Given the description of an element on the screen output the (x, y) to click on. 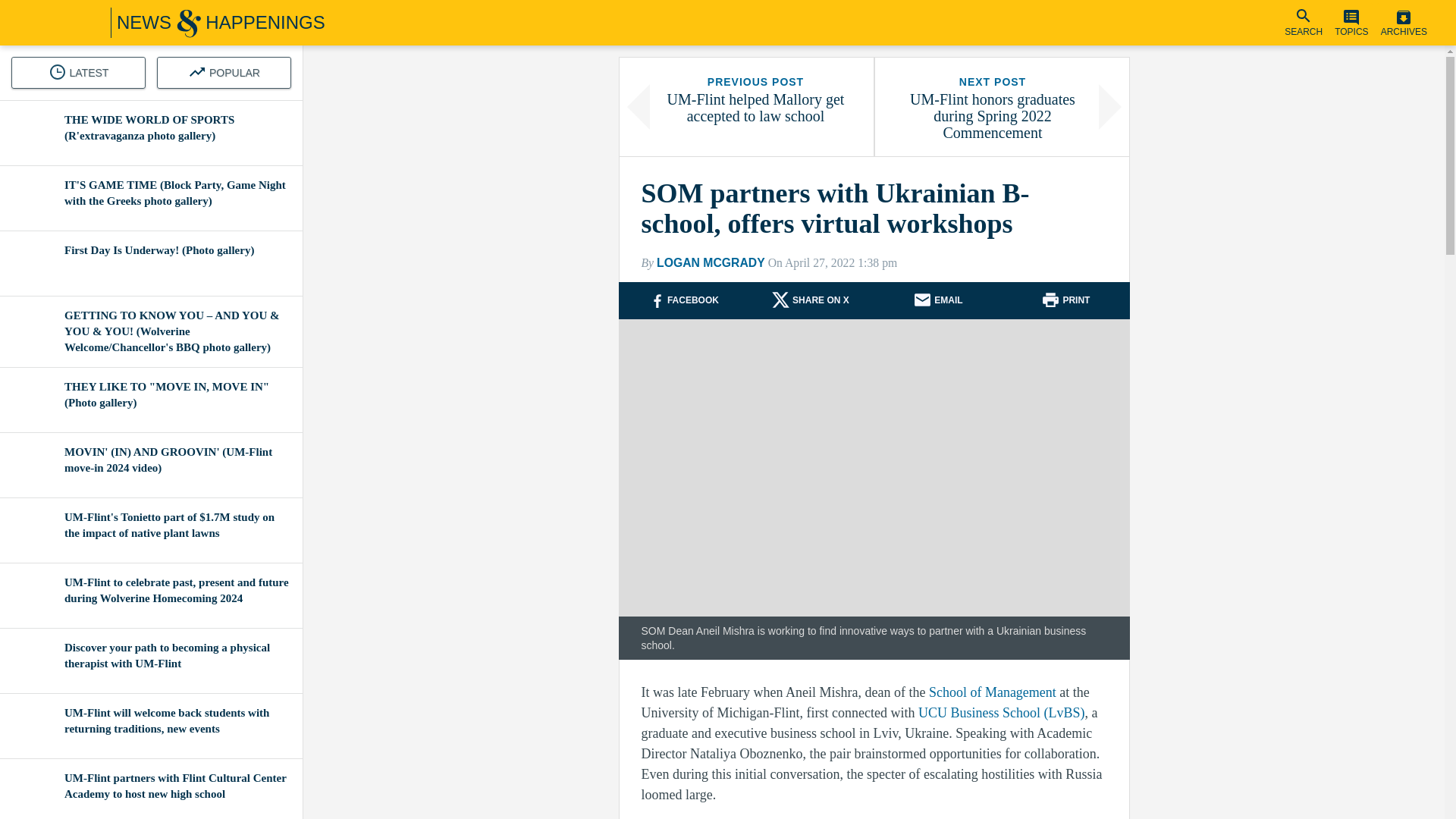
Skip to Article Text (682, 300)
School of Management (1075, 300)
Go to topics directory (989, 692)
Search the UM-Flint NOW site (1350, 22)
Share this on X (1303, 22)
LOGAN MCGRADY (820, 300)
Go to the frontpage (710, 262)
